Given the description of an element on the screen output the (x, y) to click on. 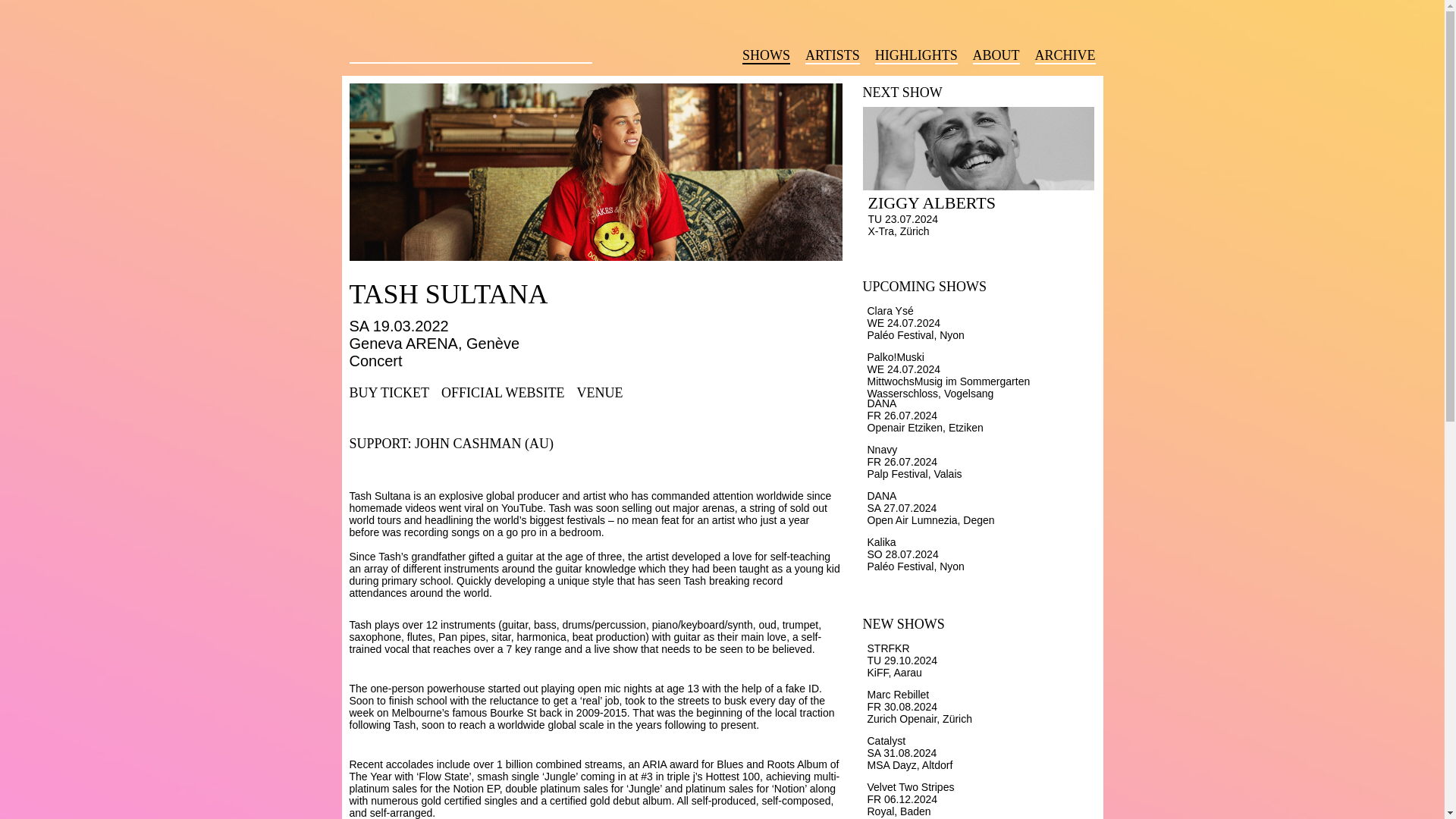
SHOWS (766, 55)
OFFICIAL WEBSITE (502, 393)
BUY TICKET (389, 393)
VENUE (599, 393)
ARCHIVE (1063, 55)
View Artist page (601, 294)
ABOUT (996, 55)
ARTISTS (832, 55)
HIGHLIGHTS (916, 55)
TASH SULTANA (601, 294)
